Given the description of an element on the screen output the (x, y) to click on. 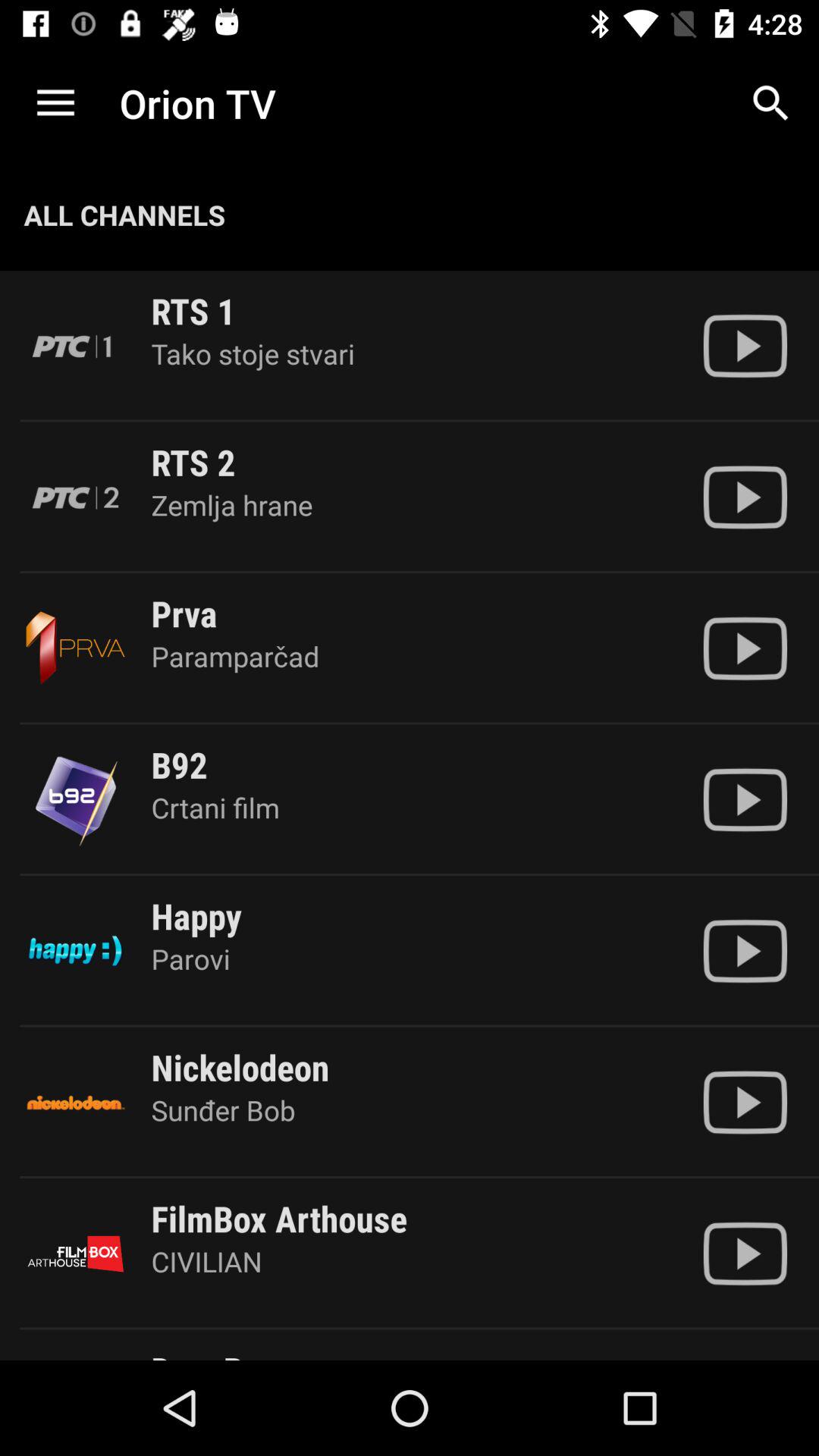
play show (745, 648)
